Given the description of an element on the screen output the (x, y) to click on. 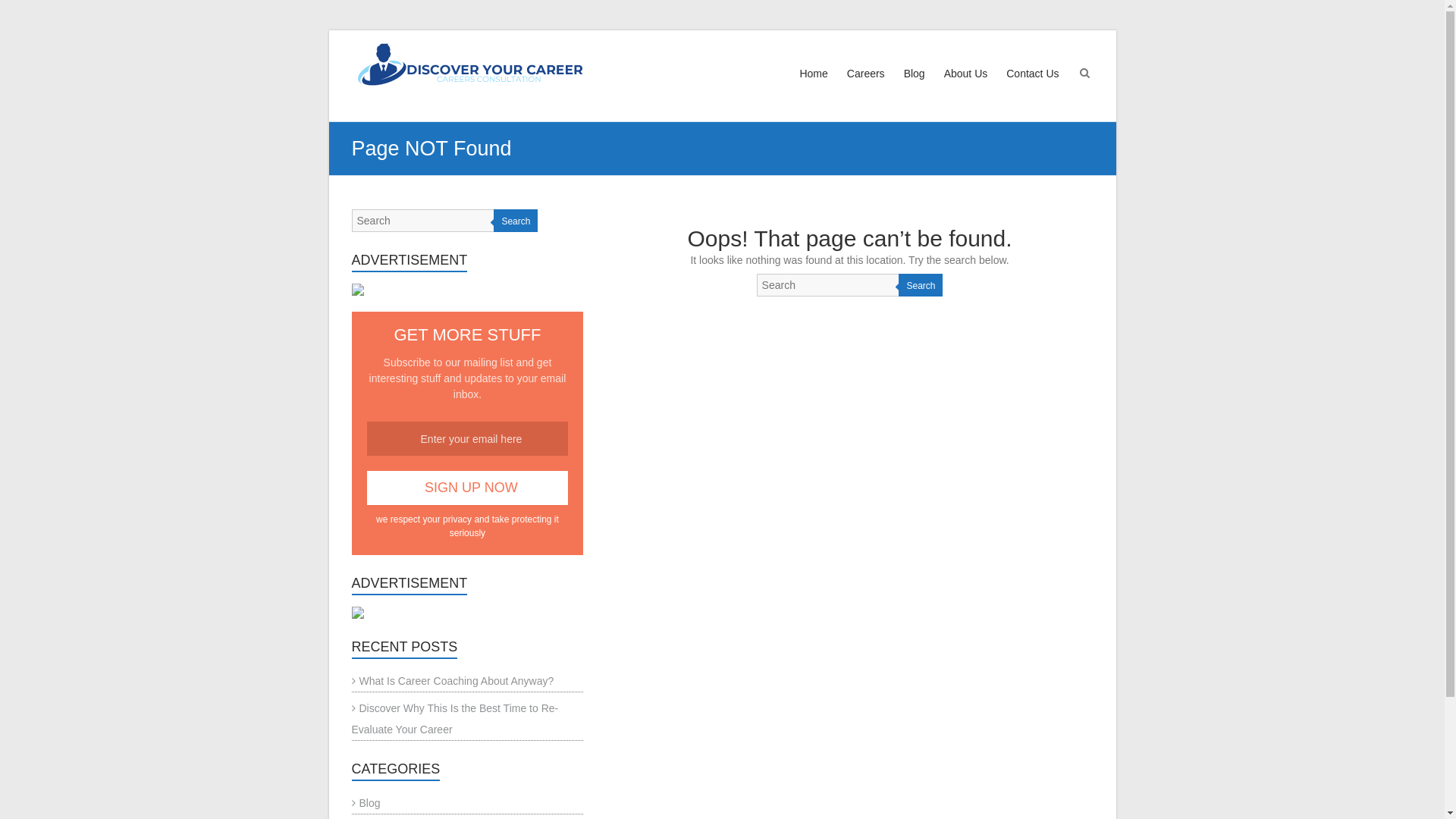
What Is Career Coaching About Anyway? Element type: text (452, 680)
Contact Us Element type: text (1032, 87)
Skip to content Element type: text (327, 29)
Blog Element type: text (365, 803)
Blog Element type: text (914, 87)
Search Element type: text (515, 220)
Sign Up Now Element type: text (467, 487)
Search Element type: text (920, 284)
Home Element type: text (813, 87)
Search Element type: text (21, 11)
About Us Element type: text (966, 87)
Careers Element type: text (865, 87)
